Given the description of an element on the screen output the (x, y) to click on. 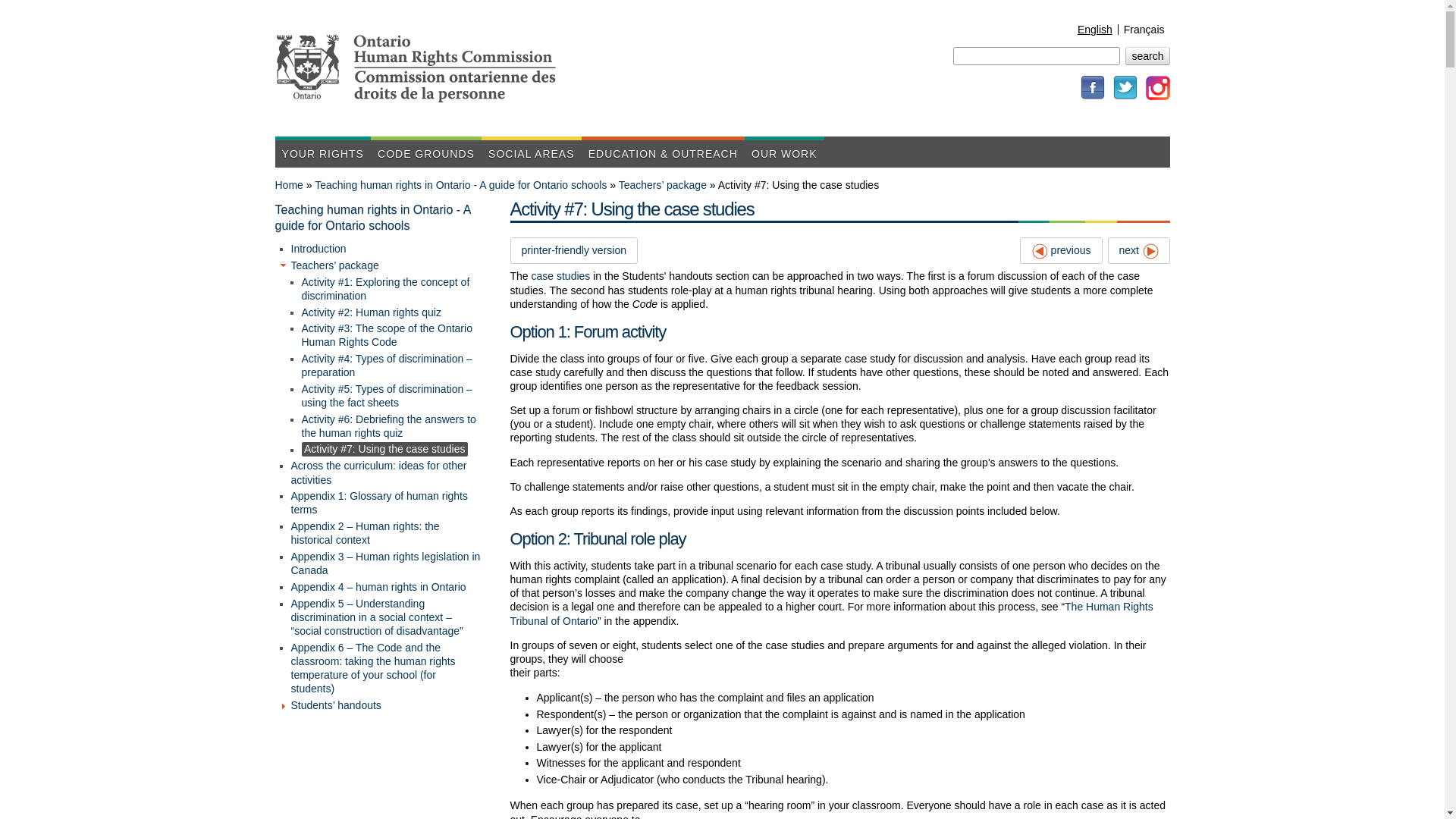
Ontario Human Rights Commission (758, 92)
CODE GROUNDS (426, 151)
Search (1147, 55)
Home (758, 92)
Skip to main content (691, 1)
Skip to local navigation (698, 1)
Ontario Human Rights Commission (482, 96)
Search (1147, 55)
English (1094, 29)
YOUR RIGHTS (322, 151)
